Given the description of an element on the screen output the (x, y) to click on. 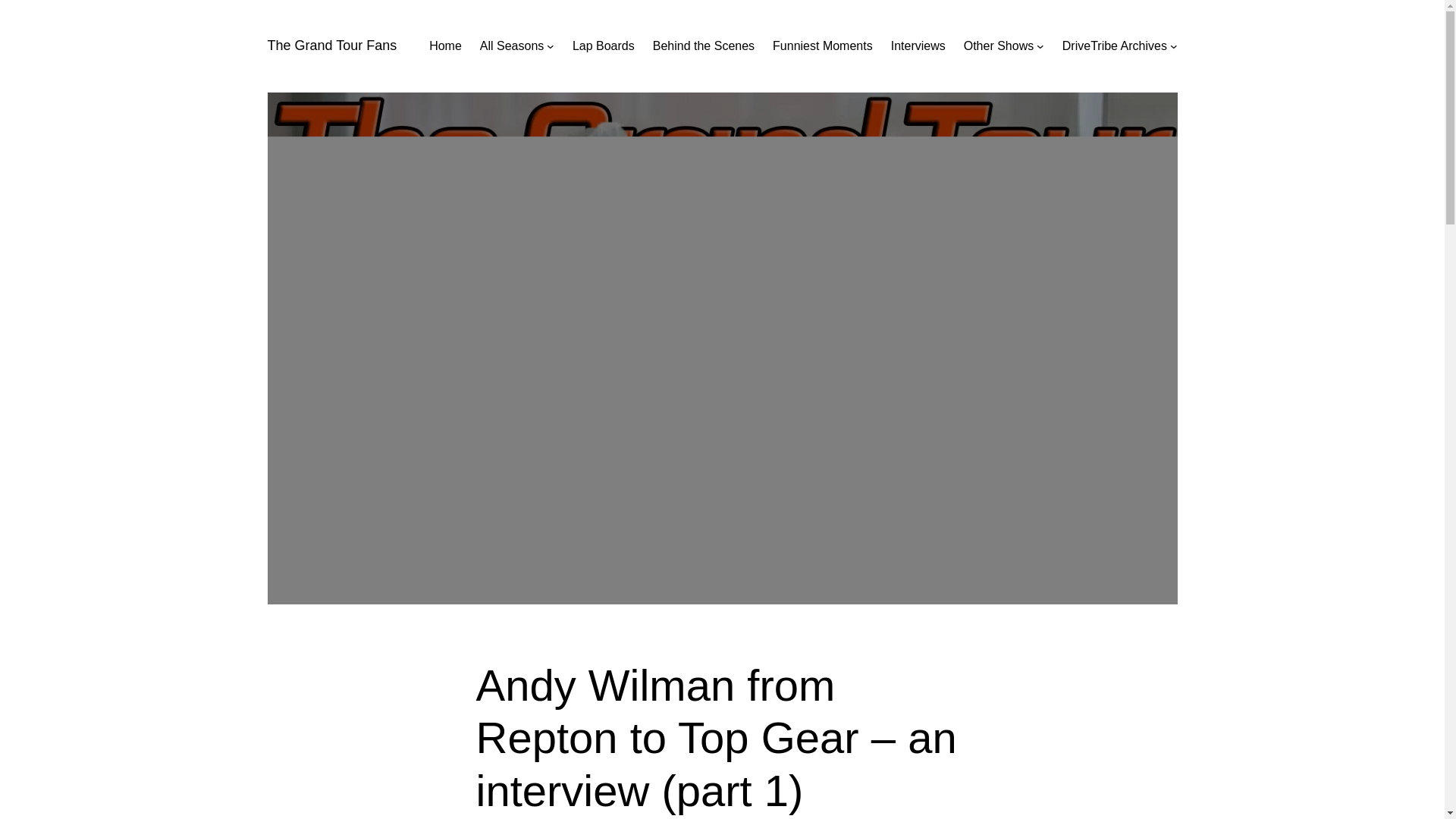
Other Shows (998, 46)
Funniest Moments (822, 46)
Home (445, 46)
The Grand Tour Fans (331, 45)
DriveTribe Archives (1114, 46)
All Seasons (512, 46)
Lap Boards (603, 46)
Interviews (917, 46)
Behind the Scenes (703, 46)
